Given the description of an element on the screen output the (x, y) to click on. 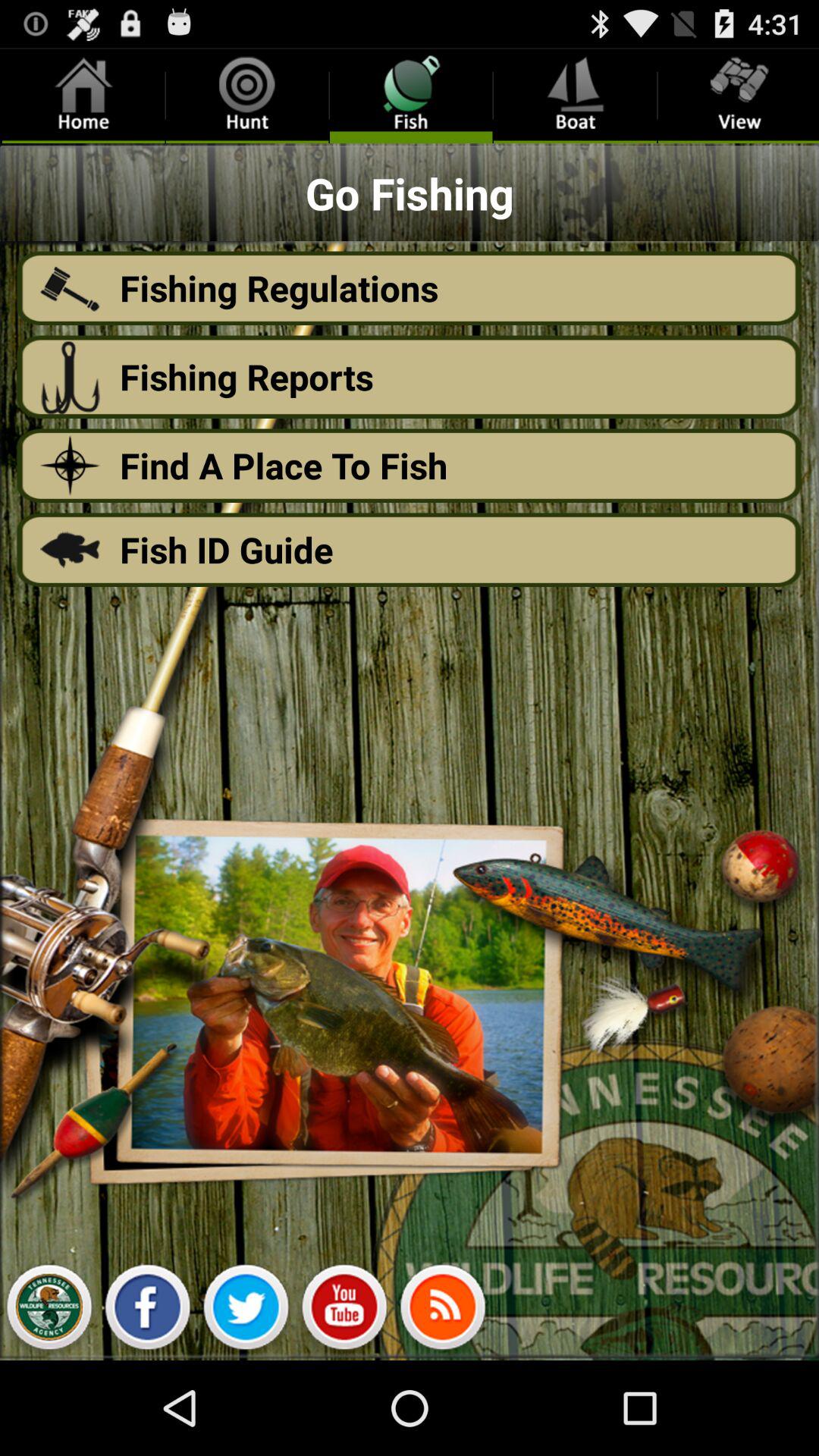
go to facebook (147, 1311)
